Given the description of an element on the screen output the (x, y) to click on. 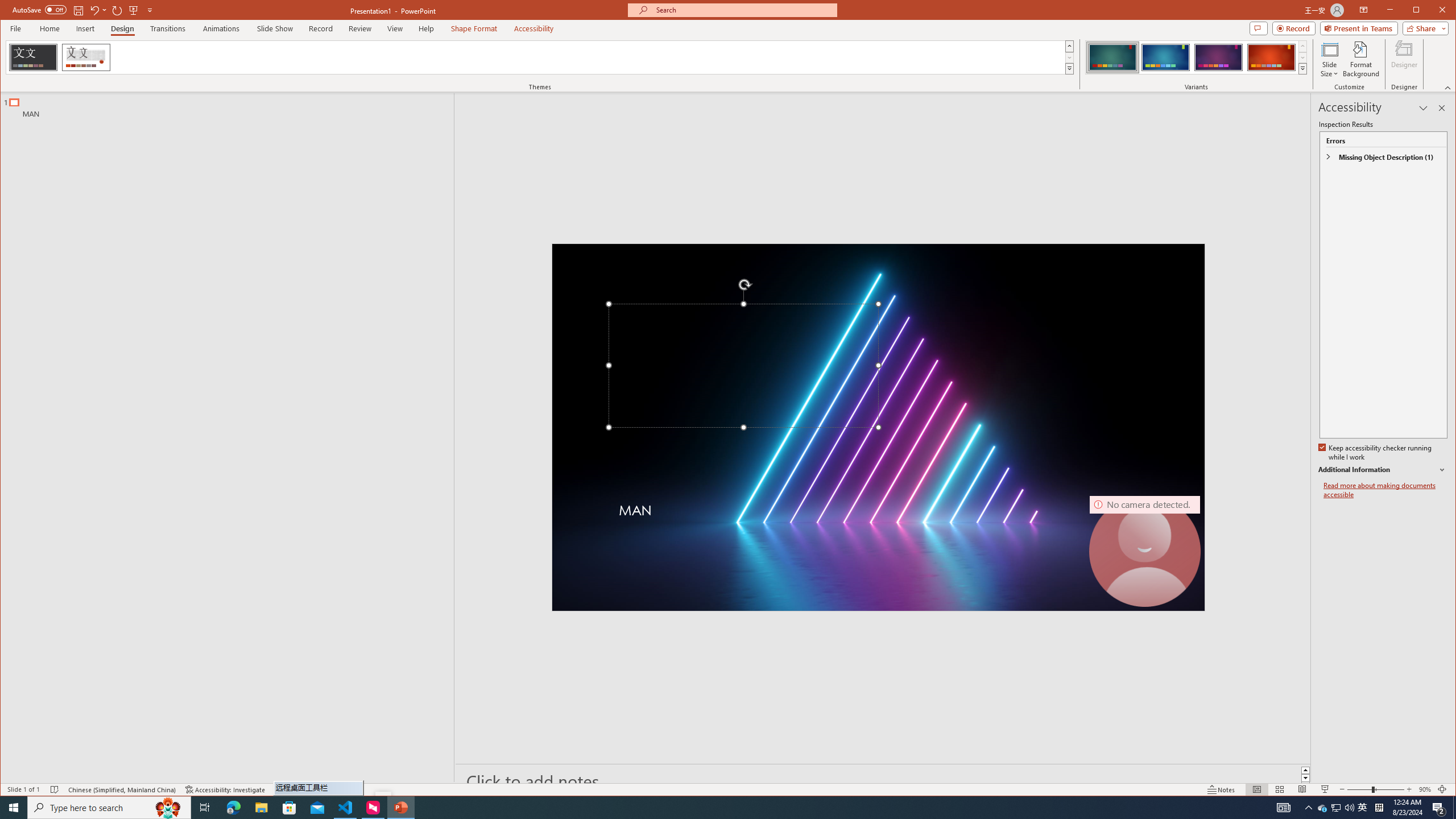
Camera 7, No camera detected. (1145, 550)
